Given the description of an element on the screen output the (x, y) to click on. 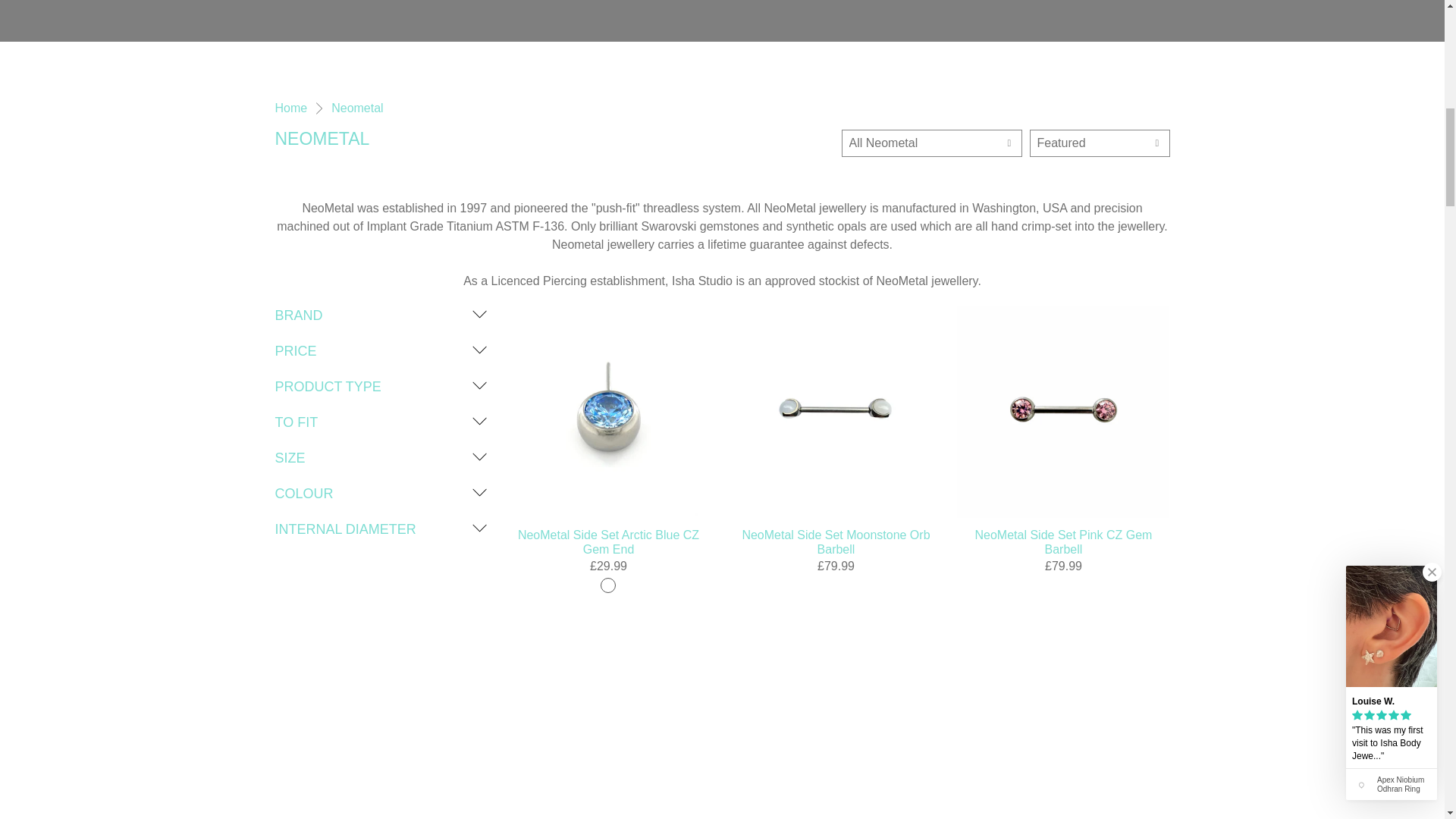
Isha Body Jewellery (291, 108)
Neometal (356, 108)
